Given the description of an element on the screen output the (x, y) to click on. 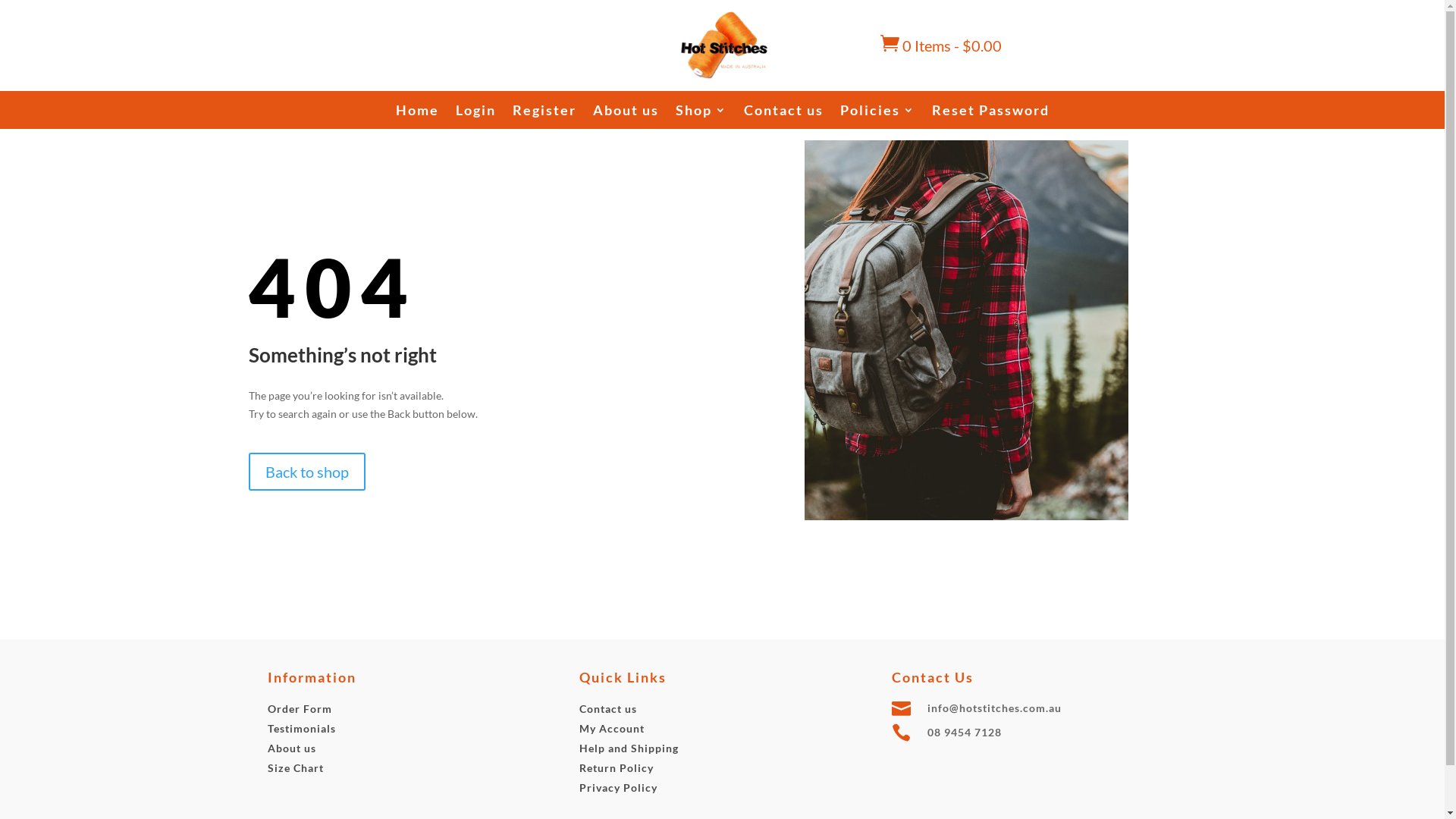
Home Element type: text (417, 112)
Size Chart Element type: text (294, 767)
Contact us Element type: text (782, 112)
Login Element type: text (475, 112)
Help and Shipping Element type: text (628, 747)
Register Element type: text (544, 112)
Shop Element type: text (700, 112)
Reset Password Element type: text (989, 112)
Return Policy Element type: text (616, 767)
Back to shop Element type: text (306, 471)
About us Element type: text (290, 747)
img-404 Element type: hover (965, 330)
About us Element type: text (625, 112)
Contact us Element type: text (608, 708)
Privacy Policy Element type: text (618, 787)
My Account Element type: text (611, 727)
Order Form Element type: text (298, 708)
Testimonials Element type: text (300, 727)
Policies Element type: text (877, 112)
